Given the description of an element on the screen output the (x, y) to click on. 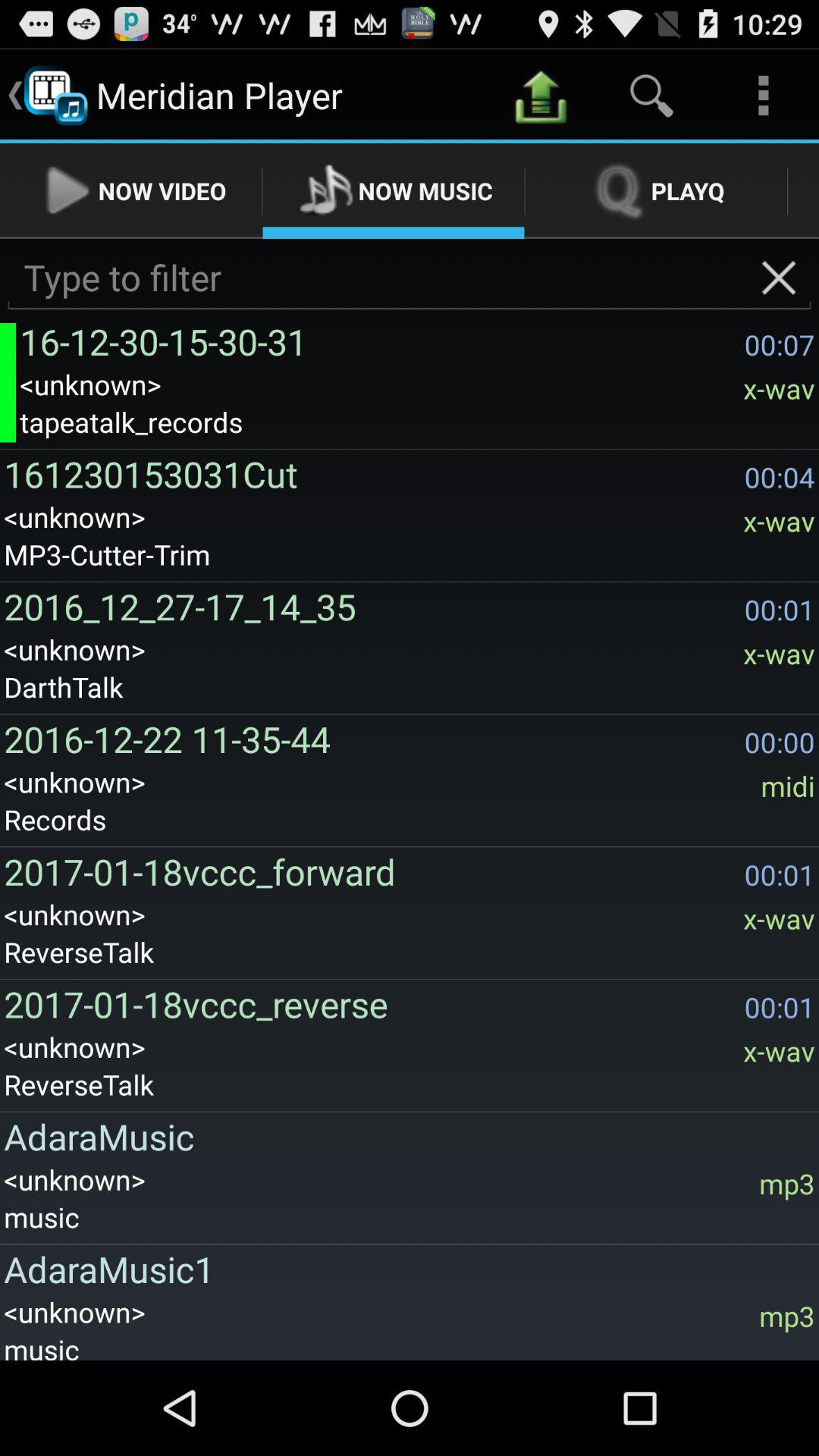
select adaramusic app (405, 1136)
